Given the description of an element on the screen output the (x, y) to click on. 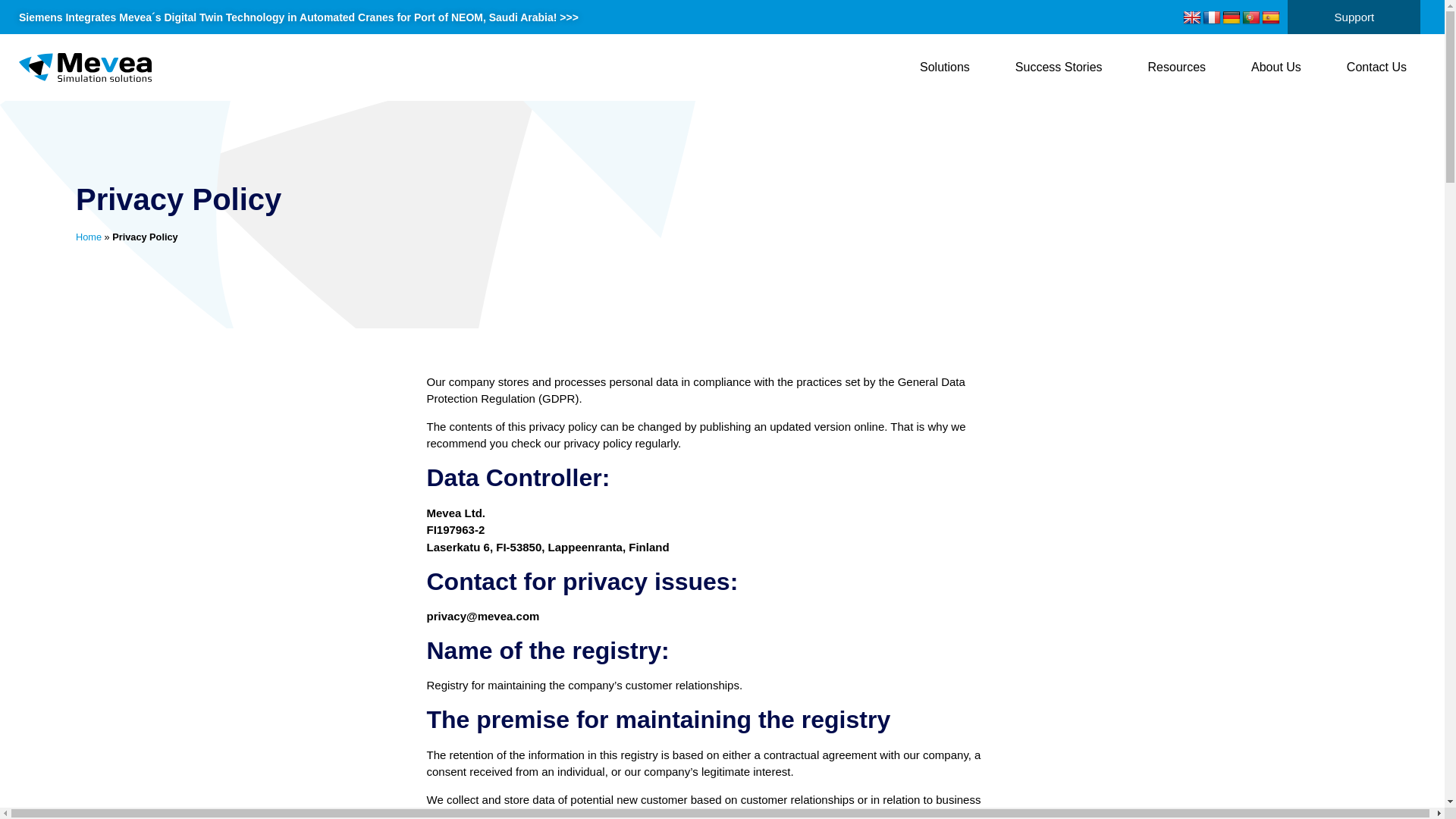
French (1211, 17)
German (1231, 17)
Resources (1176, 67)
Support (1354, 17)
Success Stories (1058, 67)
English (1191, 17)
Spanish (1270, 17)
Solutions (944, 67)
Portuguese (1250, 17)
